Given the description of an element on the screen output the (x, y) to click on. 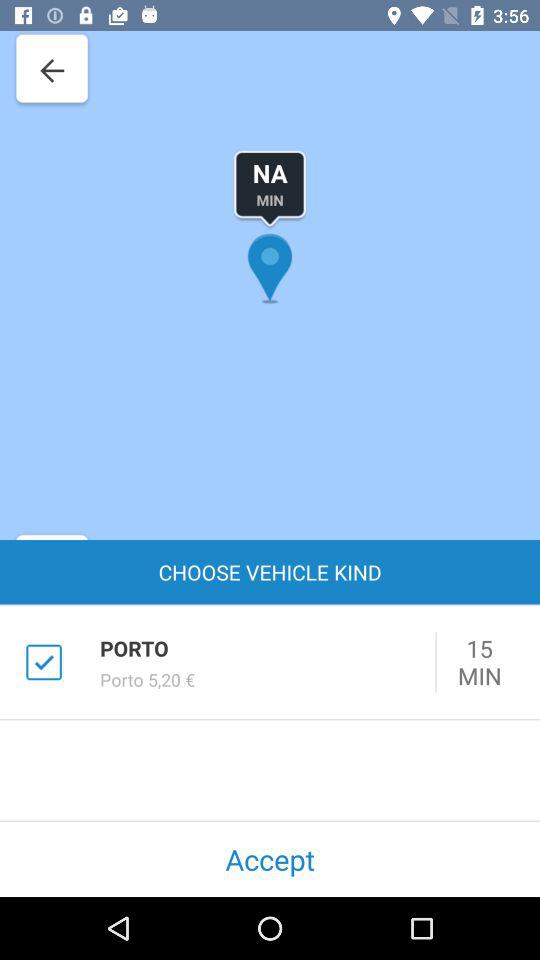
select the checkbox which is left to porto (43, 662)
